Given the description of an element on the screen output the (x, y) to click on. 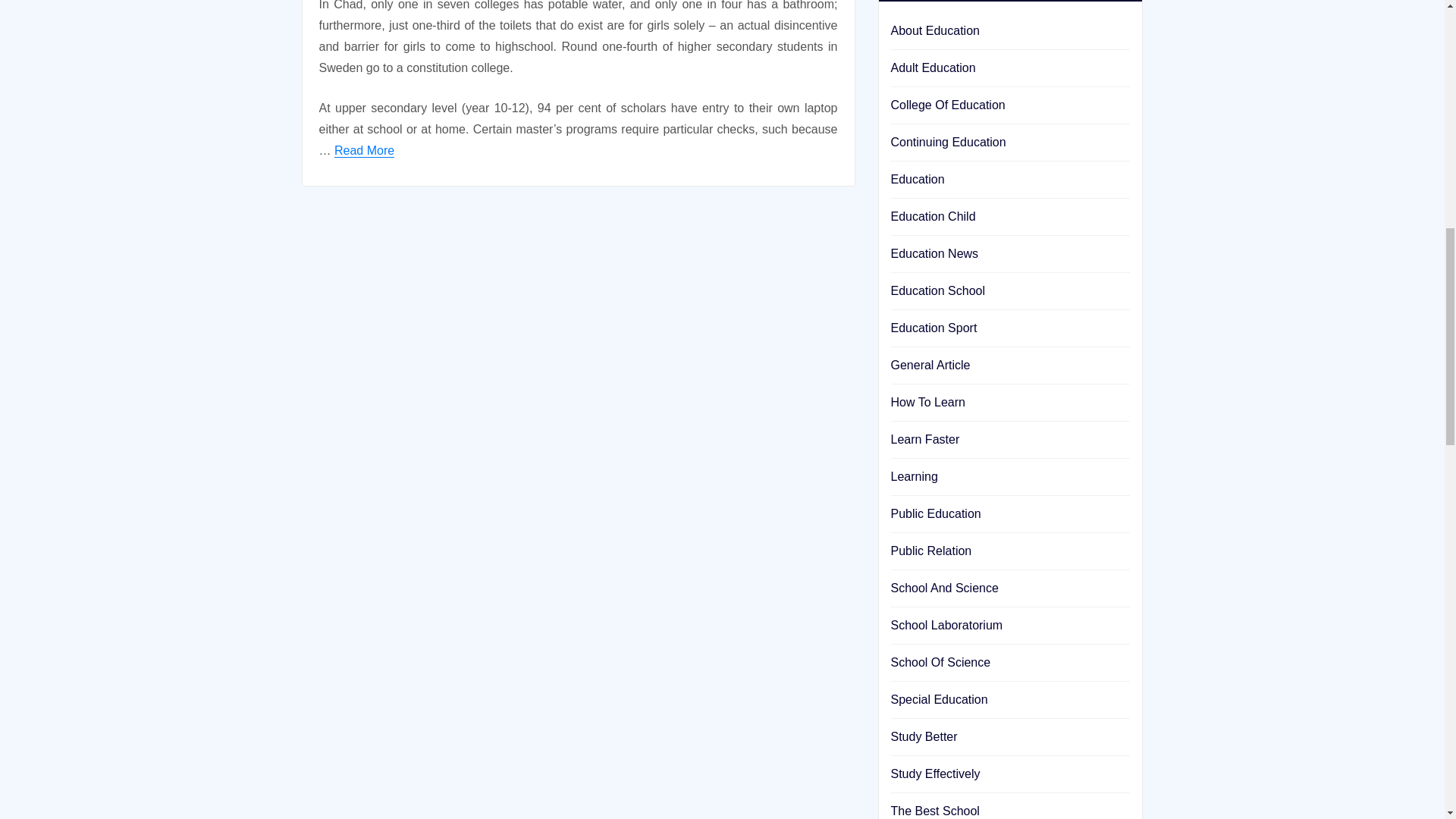
About Education (933, 30)
Education School (937, 290)
Education News (933, 253)
Education Sport (932, 327)
Read More (364, 150)
Continuing Education (947, 141)
Education (916, 178)
College Of Education (946, 104)
Education Child (932, 215)
Adult Education (932, 67)
